Given the description of an element on the screen output the (x, y) to click on. 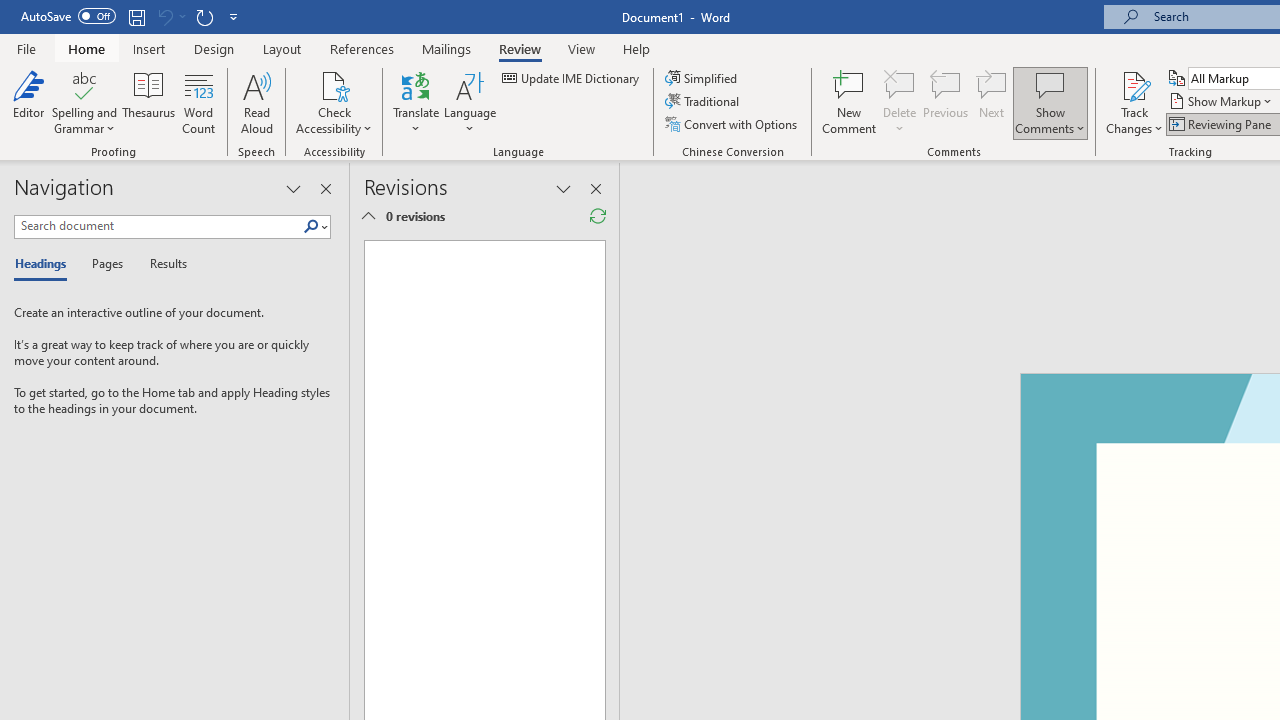
Track Changes (1134, 84)
Can't Undo (164, 15)
Can't Undo (170, 15)
Check Accessibility (334, 84)
Delete (900, 84)
Update IME Dictionary... (572, 78)
Show Detailed Summary (368, 215)
Refresh Reviewing Pane (597, 215)
